Given the description of an element on the screen output the (x, y) to click on. 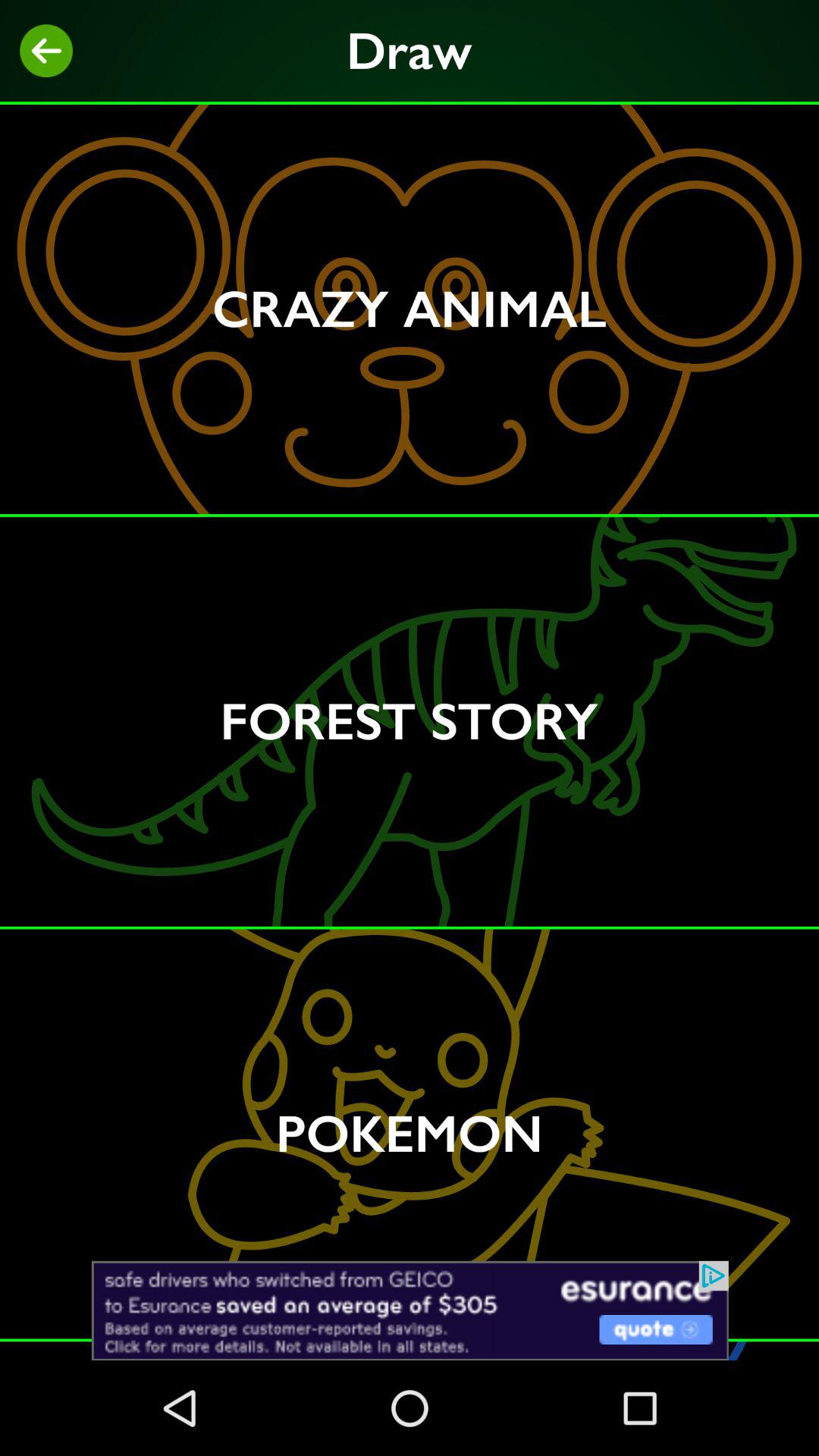
go back (46, 50)
